Given the description of an element on the screen output the (x, y) to click on. 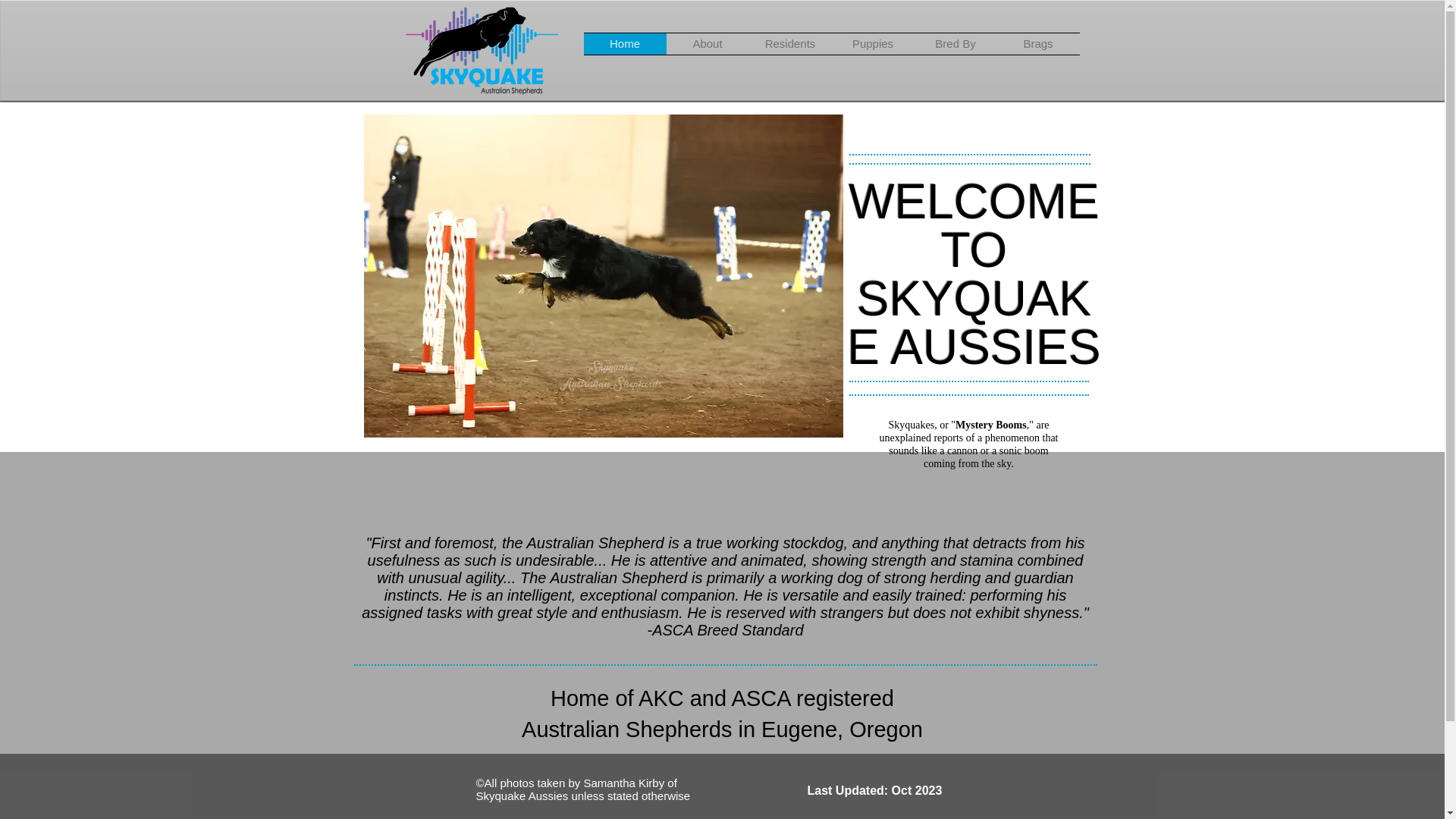
Home (624, 43)
Puppies (872, 43)
Bred By (955, 43)
About (706, 43)
Brags (1036, 43)
Residents (790, 43)
